Given the description of an element on the screen output the (x, y) to click on. 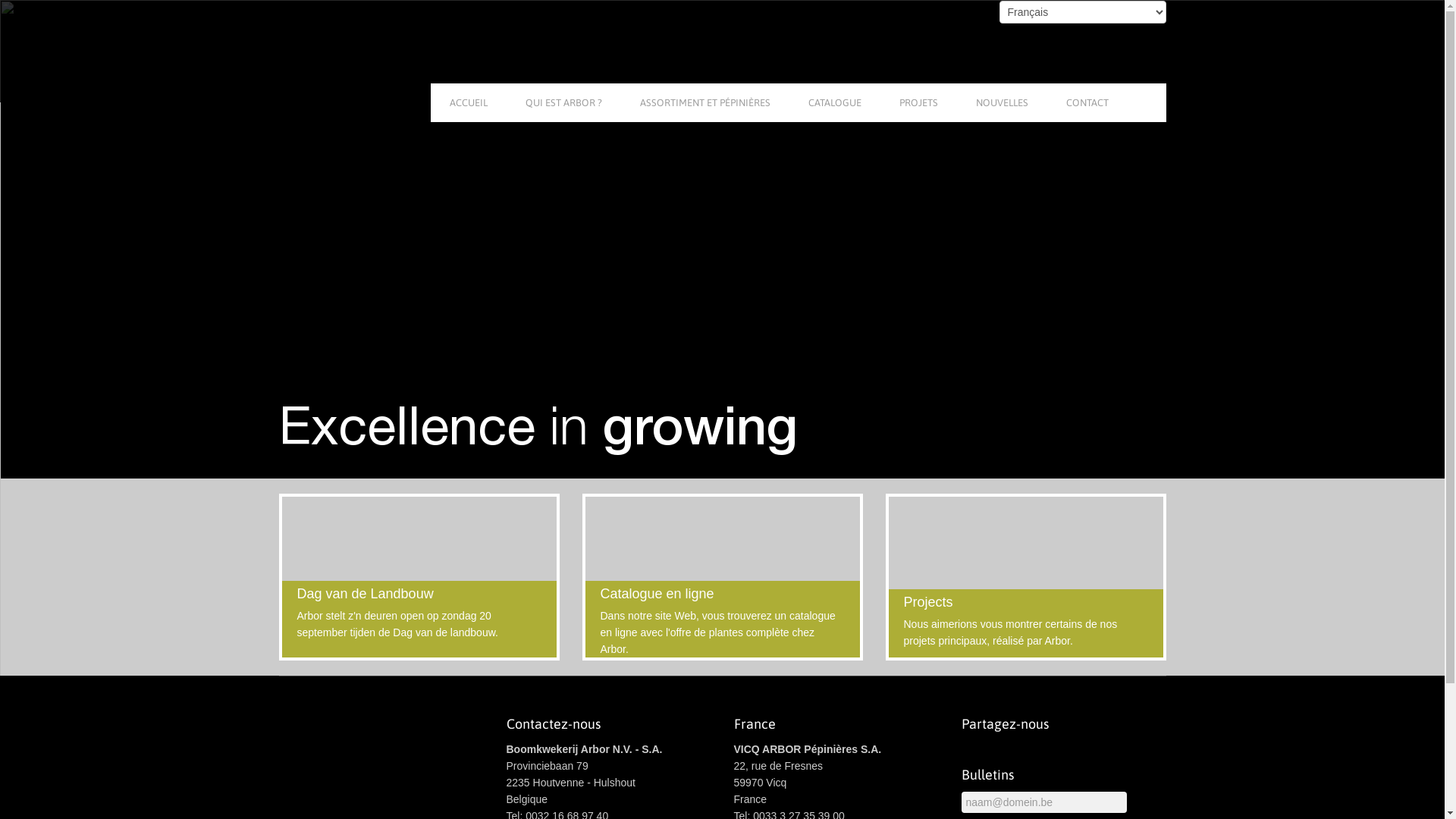
CATALOGUE Element type: text (833, 102)
CONTACT Element type: text (1086, 102)
ACCUEIL Element type: text (468, 102)
NOUVELLES Element type: text (1002, 102)
QUI EST ARBOR ? Element type: text (563, 102)
PROJETS Element type: text (917, 102)
